Given the description of an element on the screen output the (x, y) to click on. 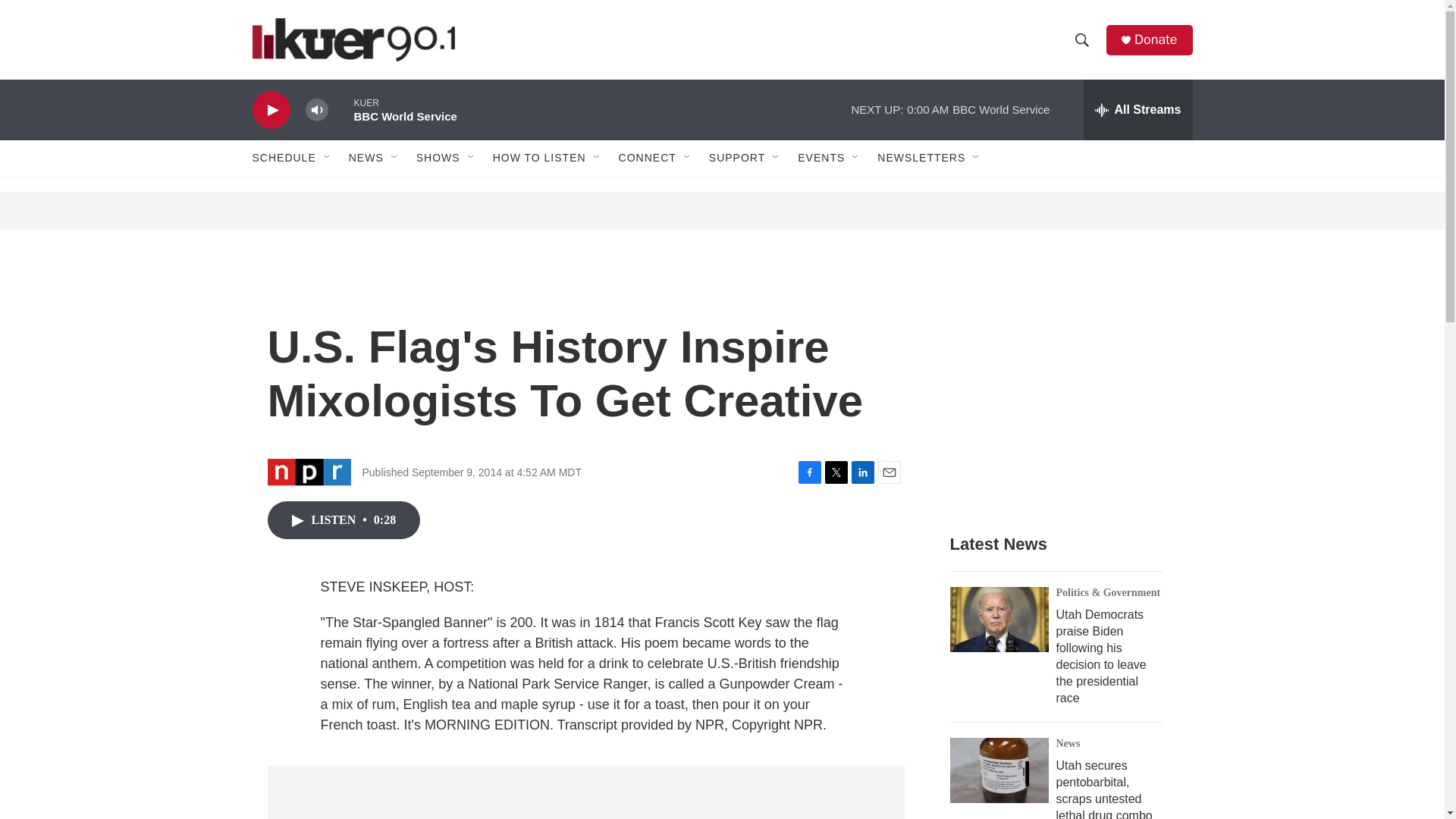
3rd party ad content (1062, 388)
3rd party ad content (722, 210)
